Given the description of an element on the screen output the (x, y) to click on. 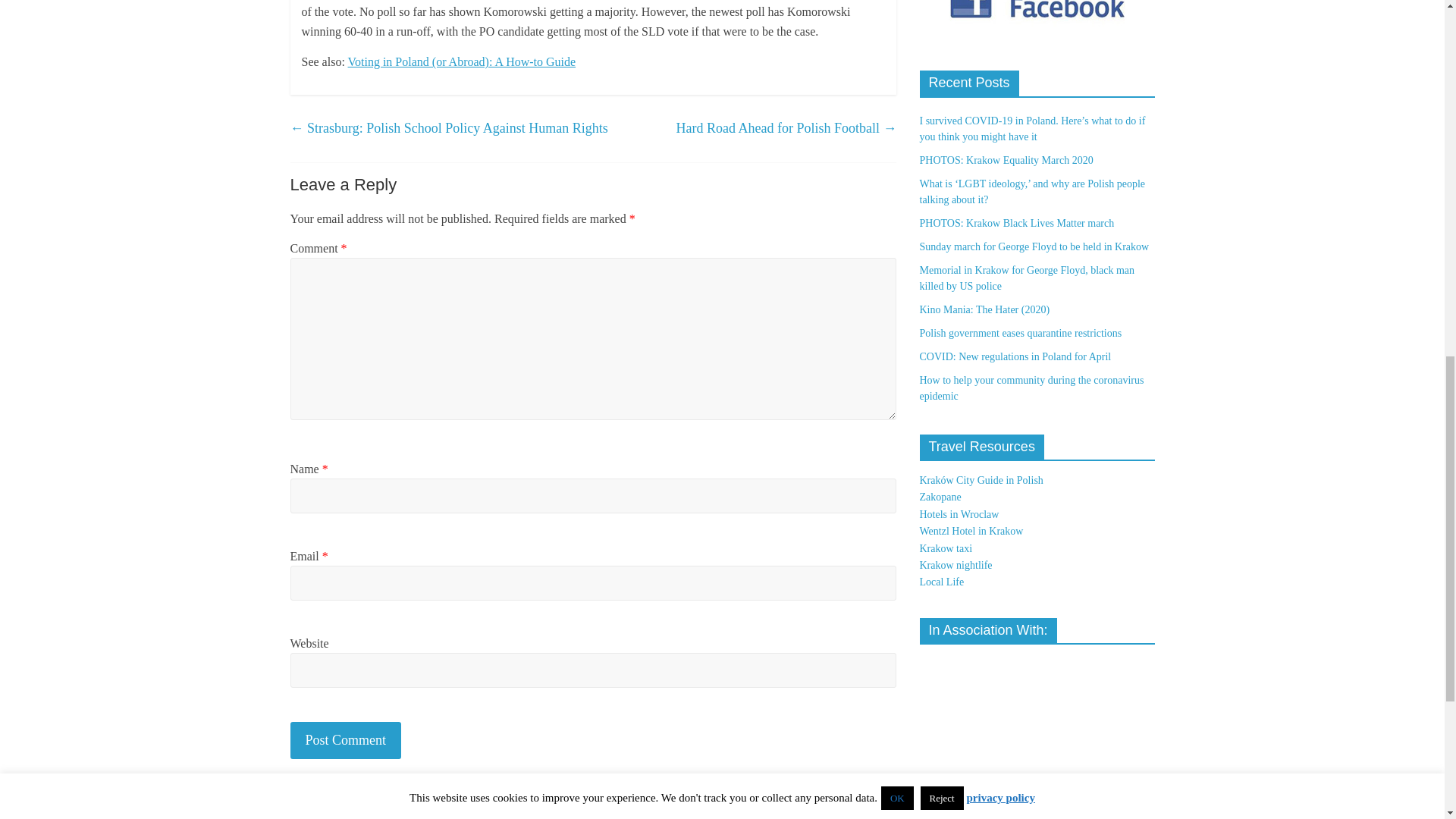
Post Comment (345, 740)
